Given the description of an element on the screen output the (x, y) to click on. 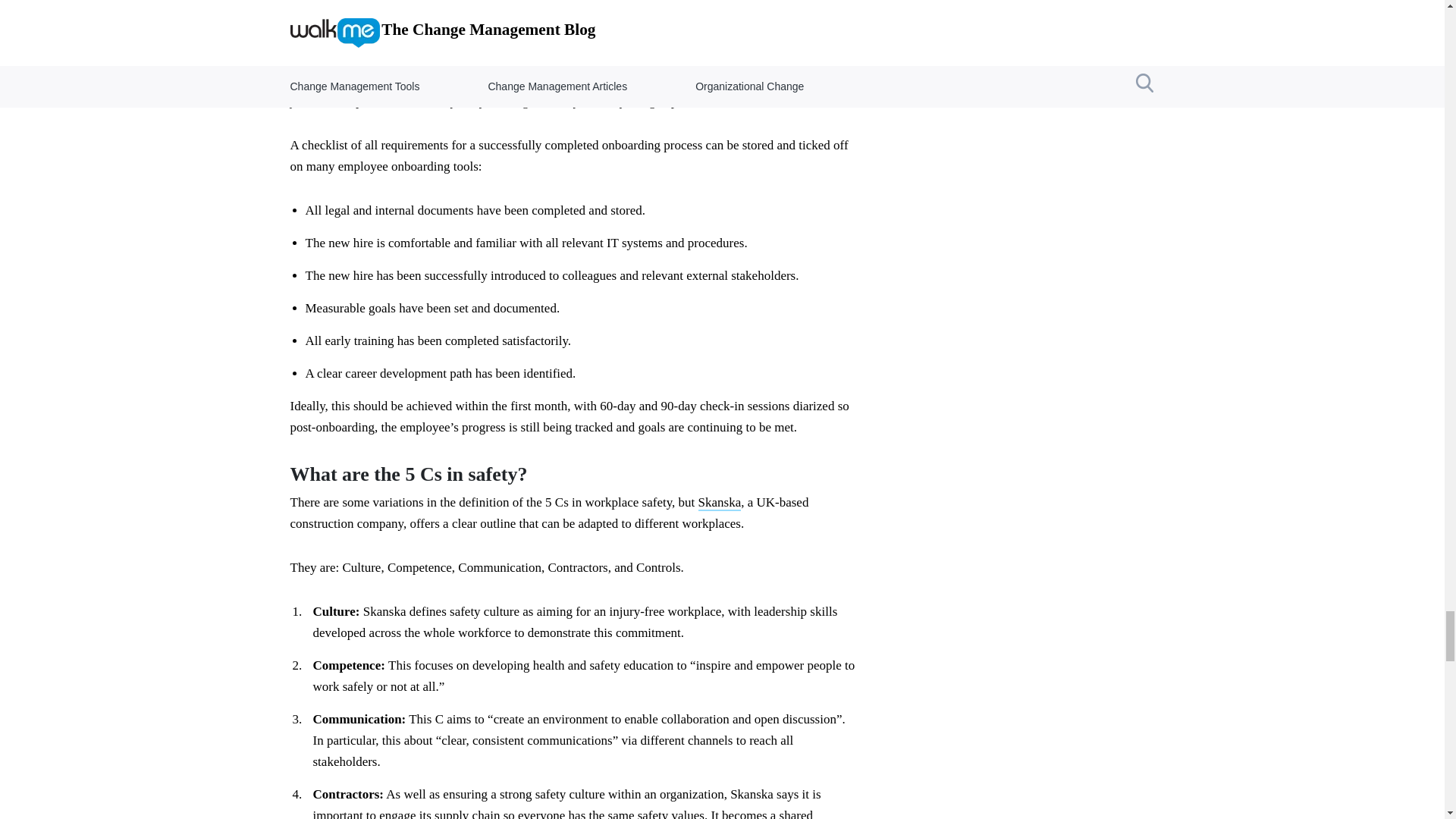
Skanska (719, 503)
